Given the description of an element on the screen output the (x, y) to click on. 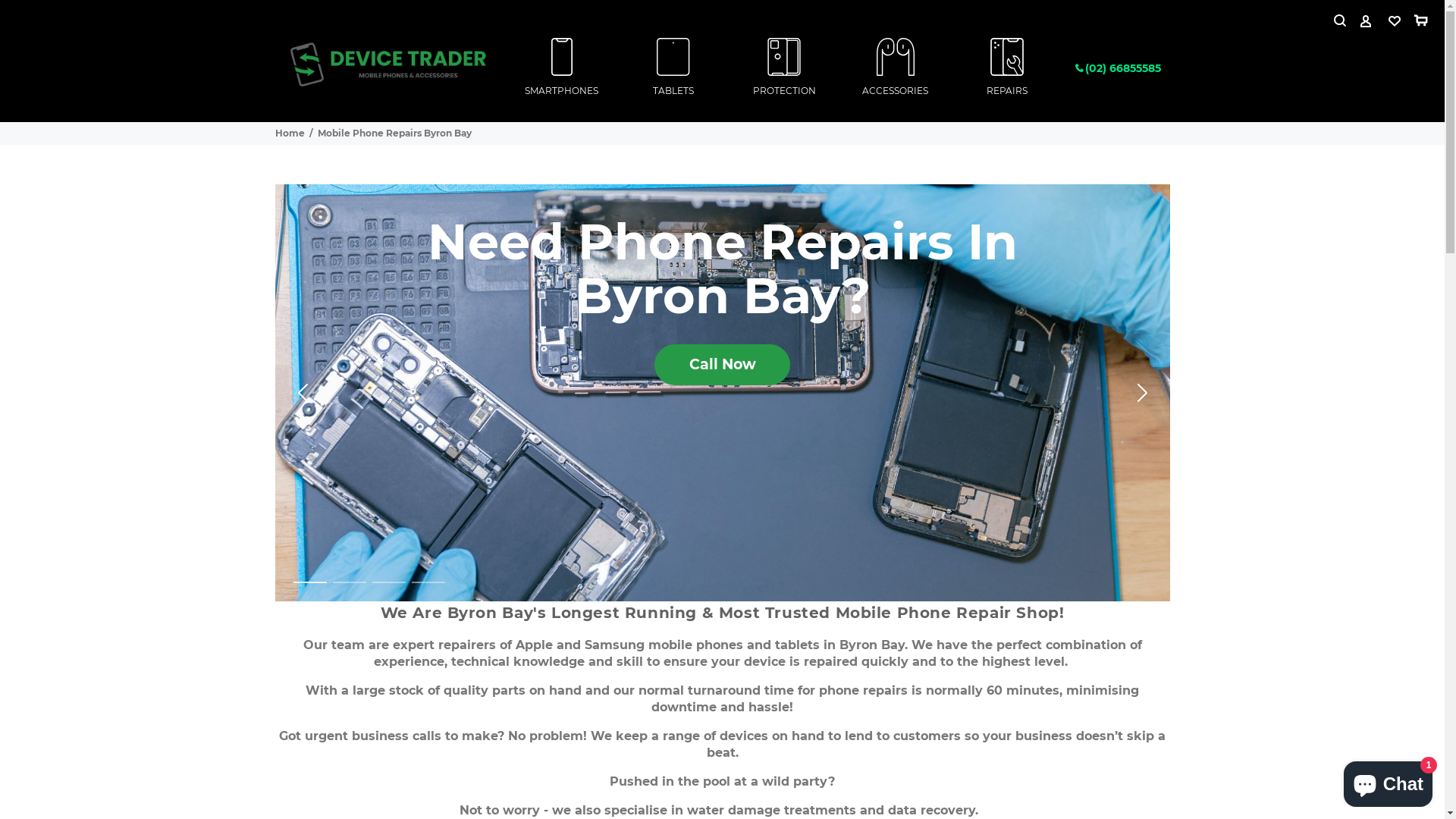
(02) 66855585 Element type: text (1118, 67)
Shopify online store chat Element type: hover (1388, 780)
ACCESSORIES Element type: text (895, 67)
REPAIRS Element type: text (1006, 67)
Home Element type: text (289, 132)
